Given the description of an element on the screen output the (x, y) to click on. 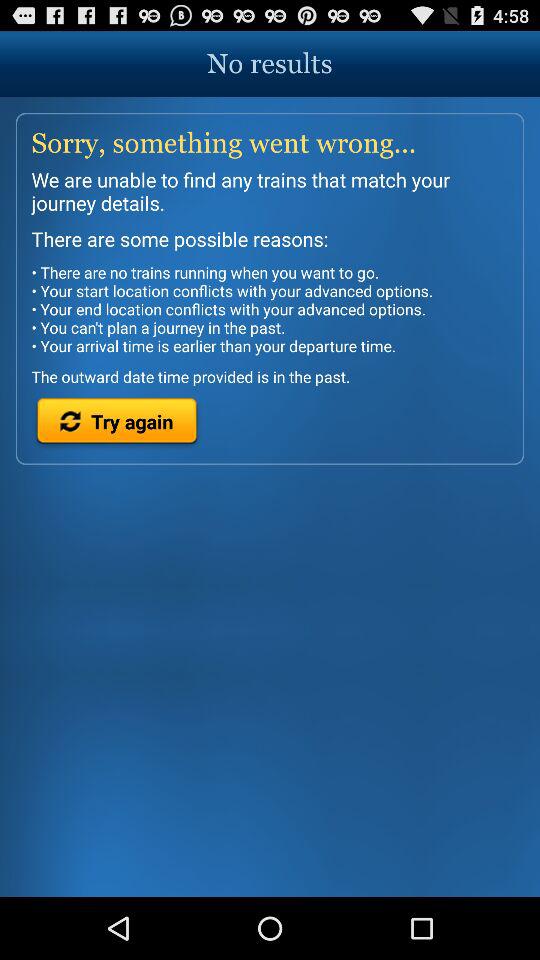
click the try again item (116, 423)
